Given the description of an element on the screen output the (x, y) to click on. 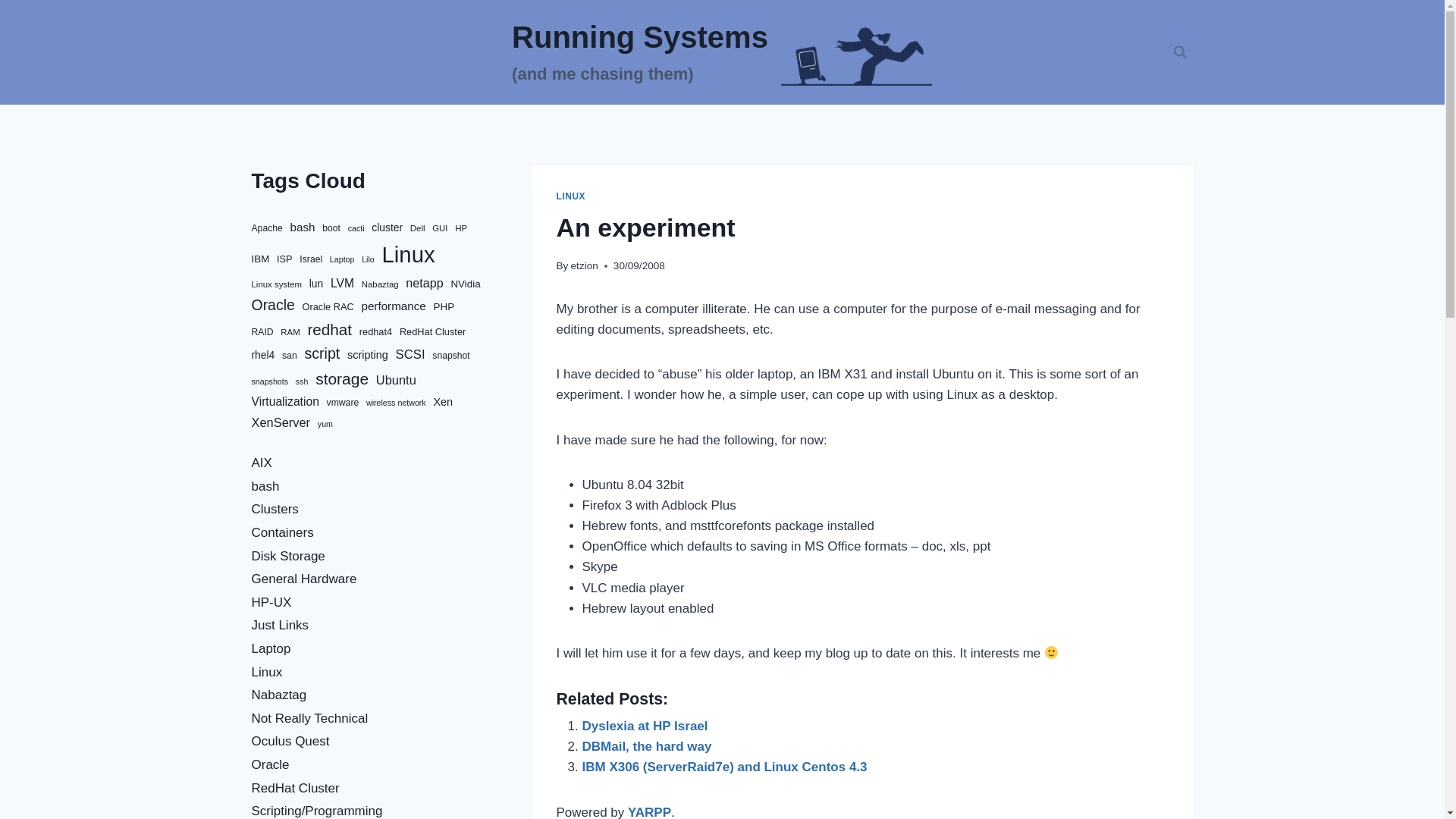
DBMail, the hard way (646, 746)
WordPress Related Posts (649, 812)
LINUX (571, 195)
DBMail, the hard way (646, 746)
YARPP (649, 812)
Dyslexia at HP Israel (644, 726)
Dyslexia at HP Israel (644, 726)
etzion (584, 265)
